Given the description of an element on the screen output the (x, y) to click on. 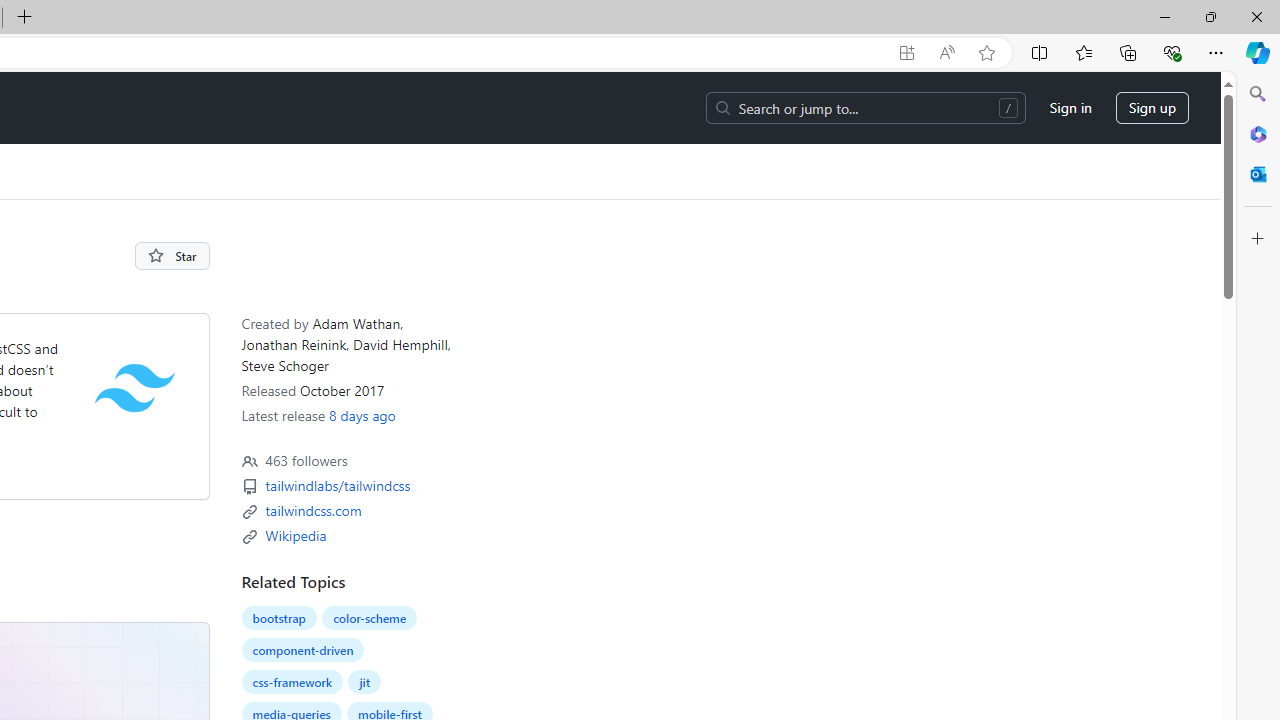
Sign up (1152, 107)
